Given the description of an element on the screen output the (x, y) to click on. 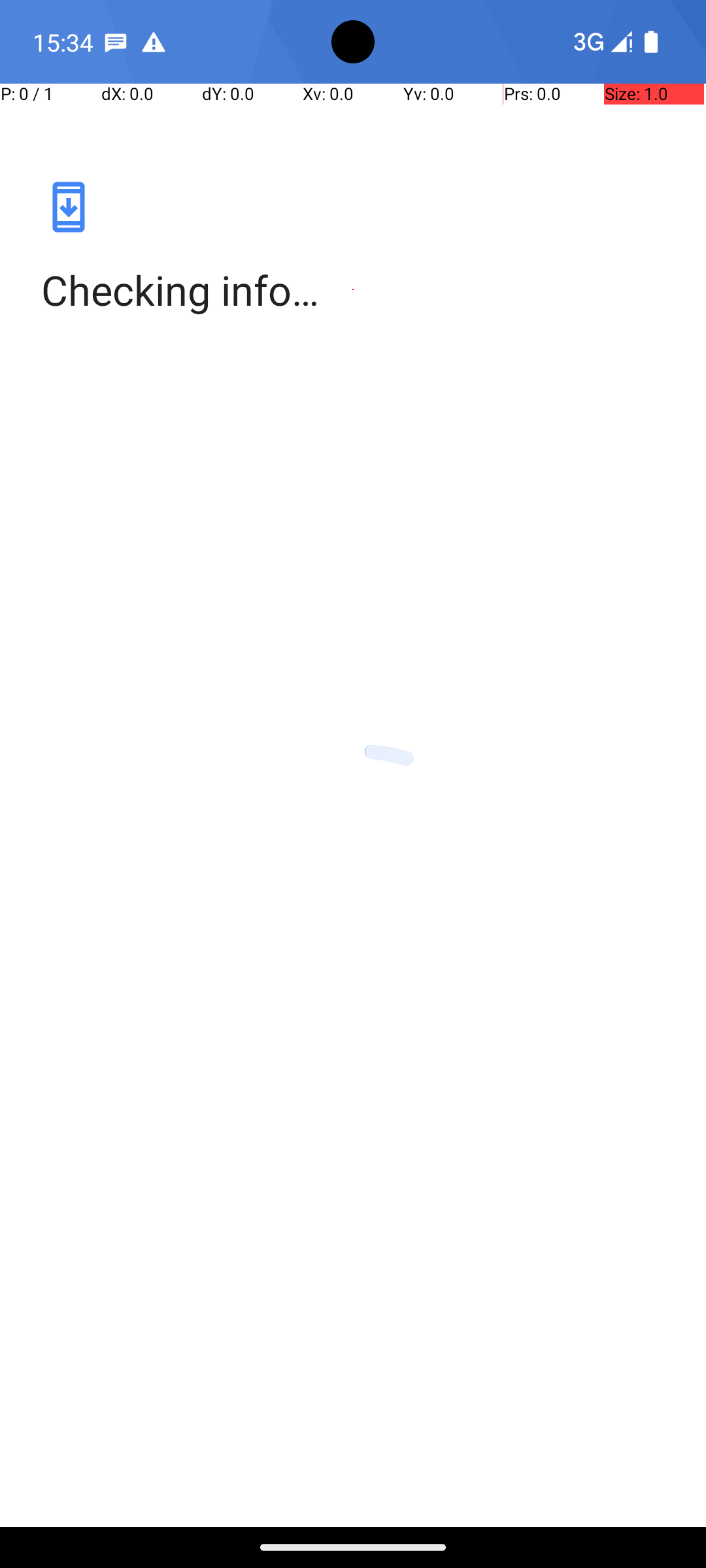
Checking info… Element type: android.widget.TextView (352, 289)
